Given the description of an element on the screen output the (x, y) to click on. 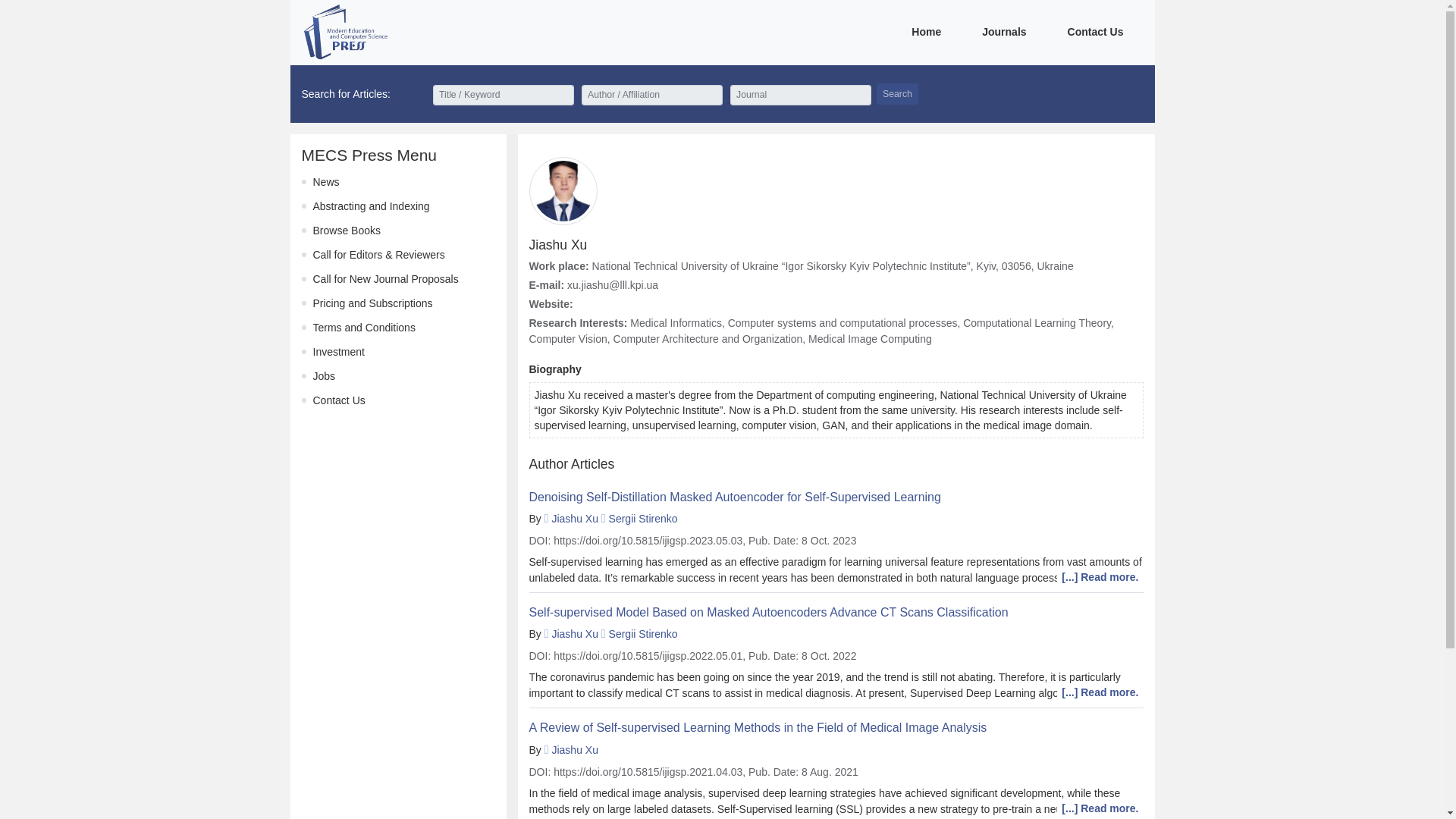
Browse Books (346, 230)
Sergii Stirenko (643, 518)
Sergii Stirenko (643, 633)
Jobs (323, 376)
Investment (338, 351)
Jiashu Xu (573, 749)
Jiashu Xu (573, 633)
News (326, 182)
Search (897, 93)
Call for New Journal Proposals (385, 278)
Terms and Conditions (363, 327)
Contact Us (339, 399)
